Given the description of an element on the screen output the (x, y) to click on. 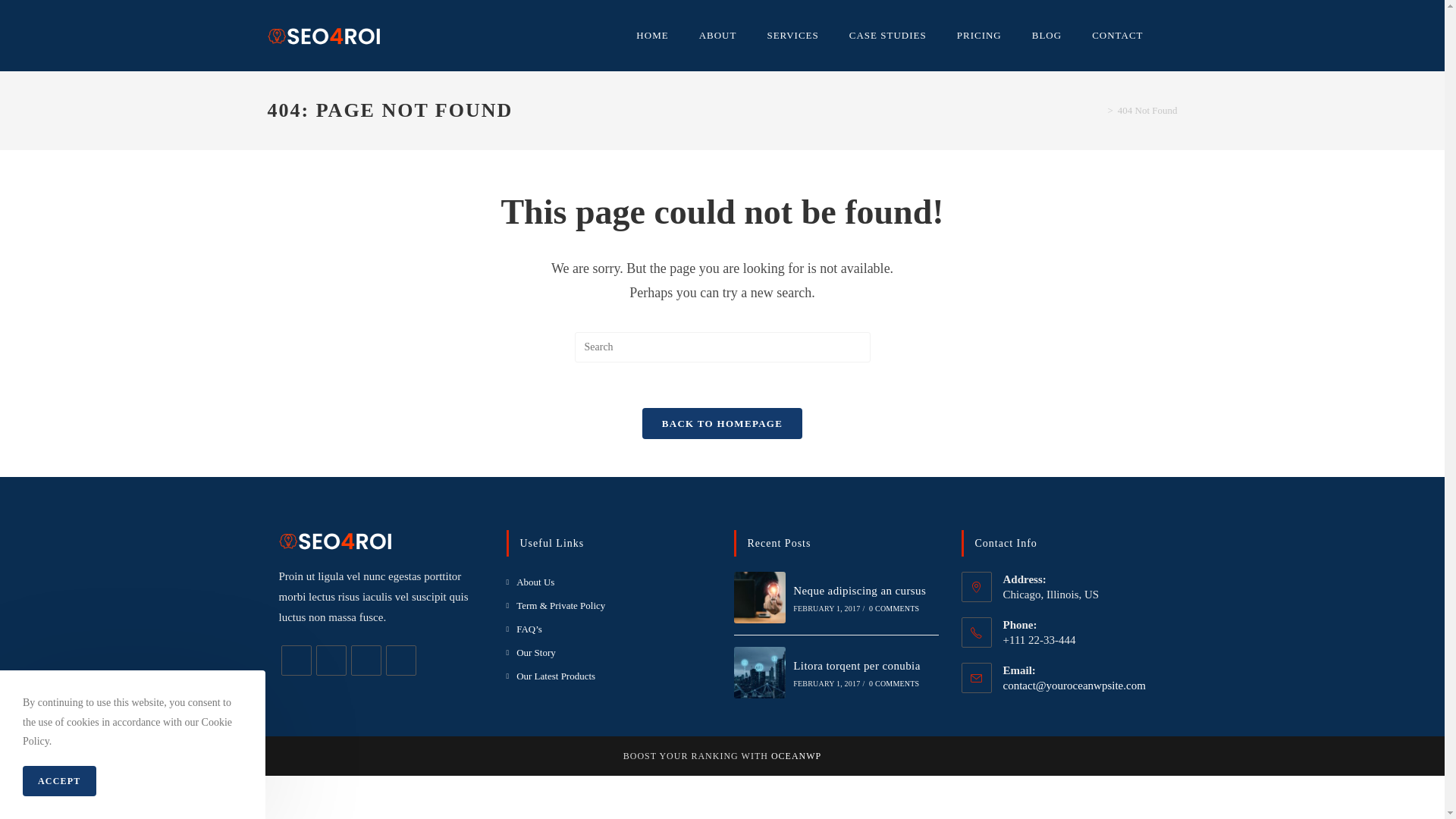
BLOG Element type: text (1046, 35)
Litora torqent per conubia Element type: text (856, 665)
PRICING Element type: text (978, 35)
Litora torqent per conubia Element type: hover (759, 672)
contact@youroceanwpsite.com Element type: text (1073, 685)
BACK TO HOMEPAGE Element type: text (722, 423)
HOME Element type: text (652, 35)
Our Latest Products Element type: text (551, 675)
ACCEPT Element type: text (59, 780)
0 COMMENTS Element type: text (894, 608)
0 COMMENTS Element type: text (894, 683)
SERVICES Element type: text (792, 35)
Term & Private Policy Element type: text (555, 605)
OCEANWP Element type: text (796, 755)
CASE STUDIES Element type: text (887, 35)
CONTACT Element type: text (1116, 35)
Neque adipiscing an cursus Element type: text (859, 590)
ABOUT Element type: text (718, 35)
Our Story Element type: text (530, 652)
Neque adipiscing an cursus Element type: hover (759, 597)
About Us Element type: text (530, 581)
